Given the description of an element on the screen output the (x, y) to click on. 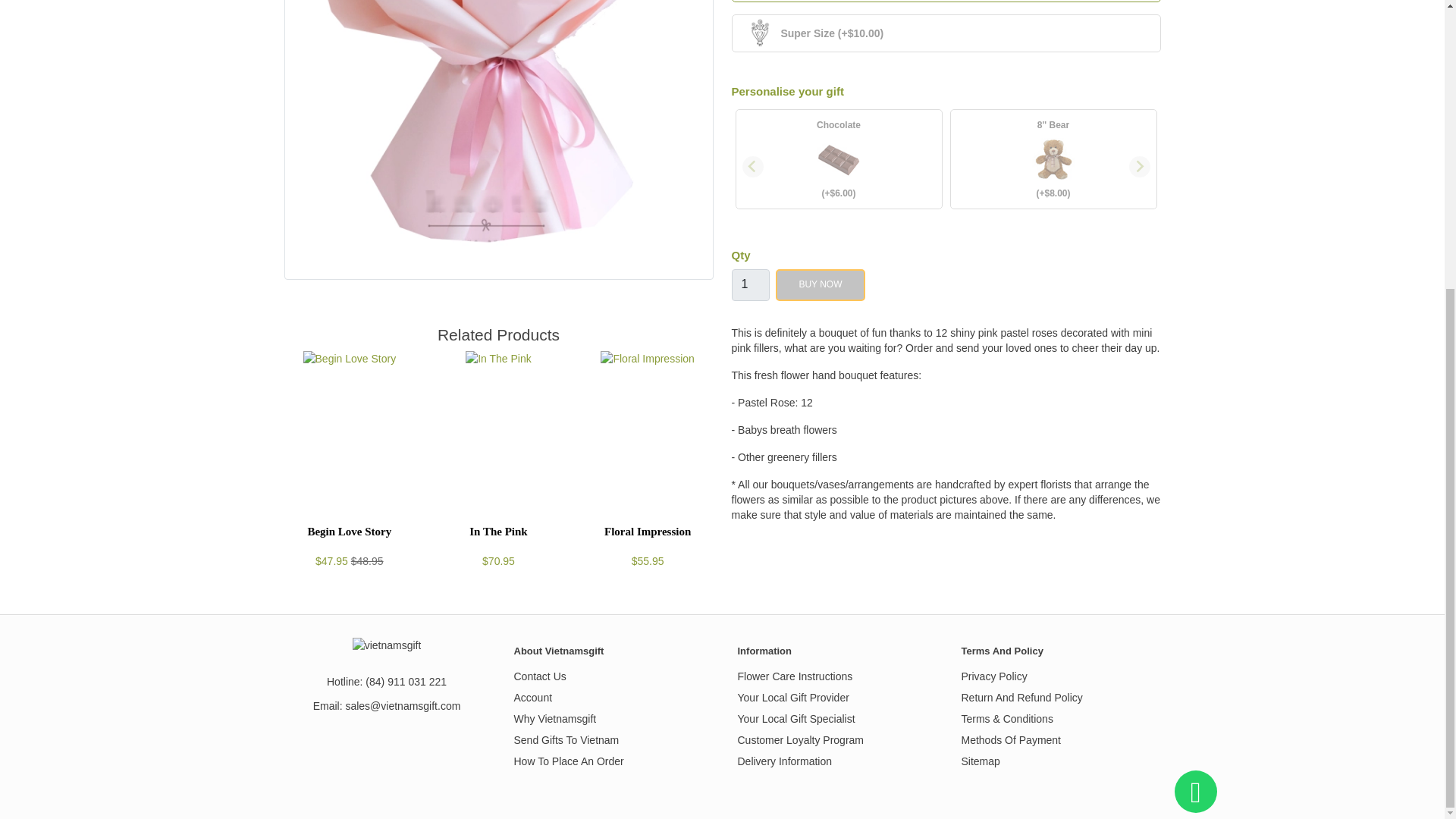
vietnamsgift (387, 645)
Floral Impression (646, 358)
Begin Love Story (349, 358)
1 (749, 285)
Loves Echo (498, 15)
Loves Echo (498, 140)
In The Pink (498, 358)
